Given the description of an element on the screen output the (x, y) to click on. 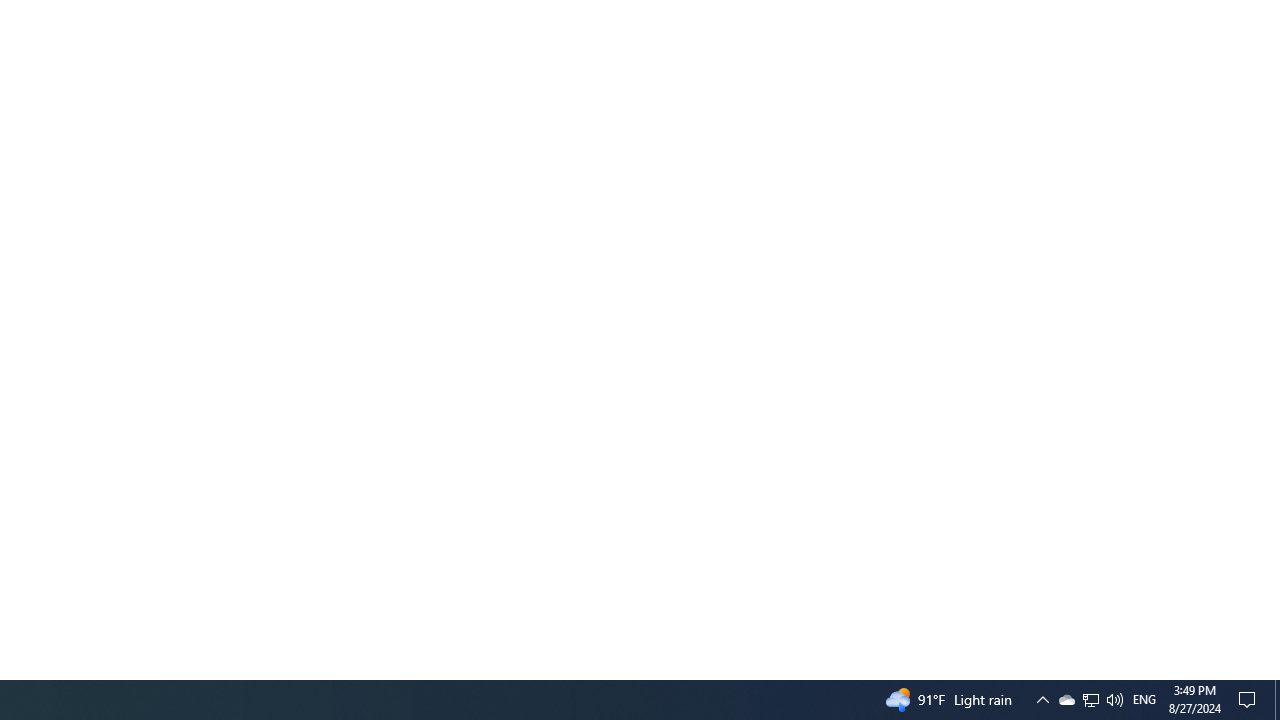
Tray Input Indicator - English (United States) (1091, 699)
Show desktop (1144, 699)
User Promoted Notification Area (1277, 699)
Notification Chevron (1090, 699)
Q2790: 100% (1042, 699)
Action Center, No new notifications (1066, 699)
